Given the description of an element on the screen output the (x, y) to click on. 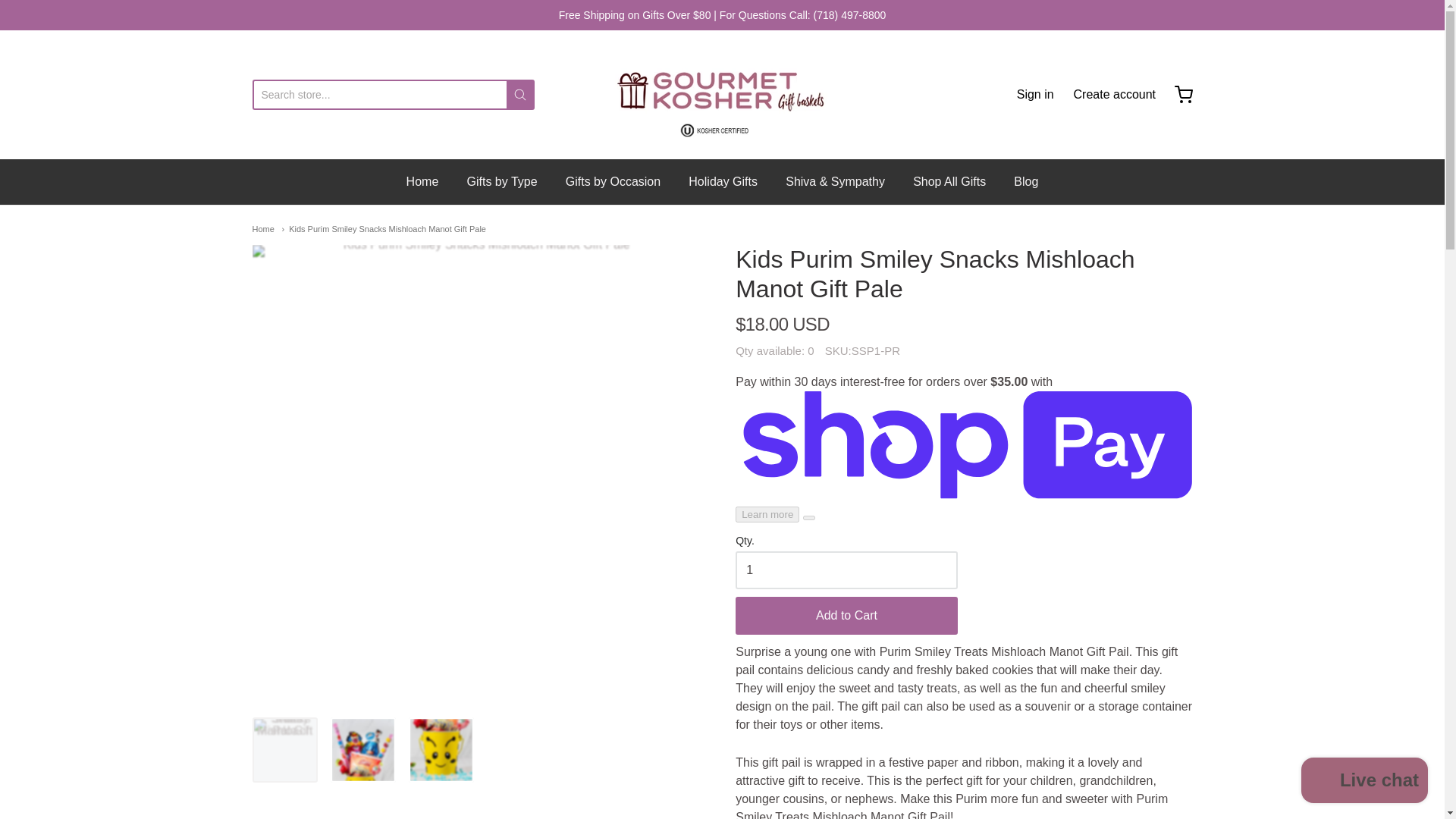
Sign in (1035, 94)
Gourmet Kosher Gift Baskets (721, 94)
1 (846, 569)
